Given the description of an element on the screen output the (x, y) to click on. 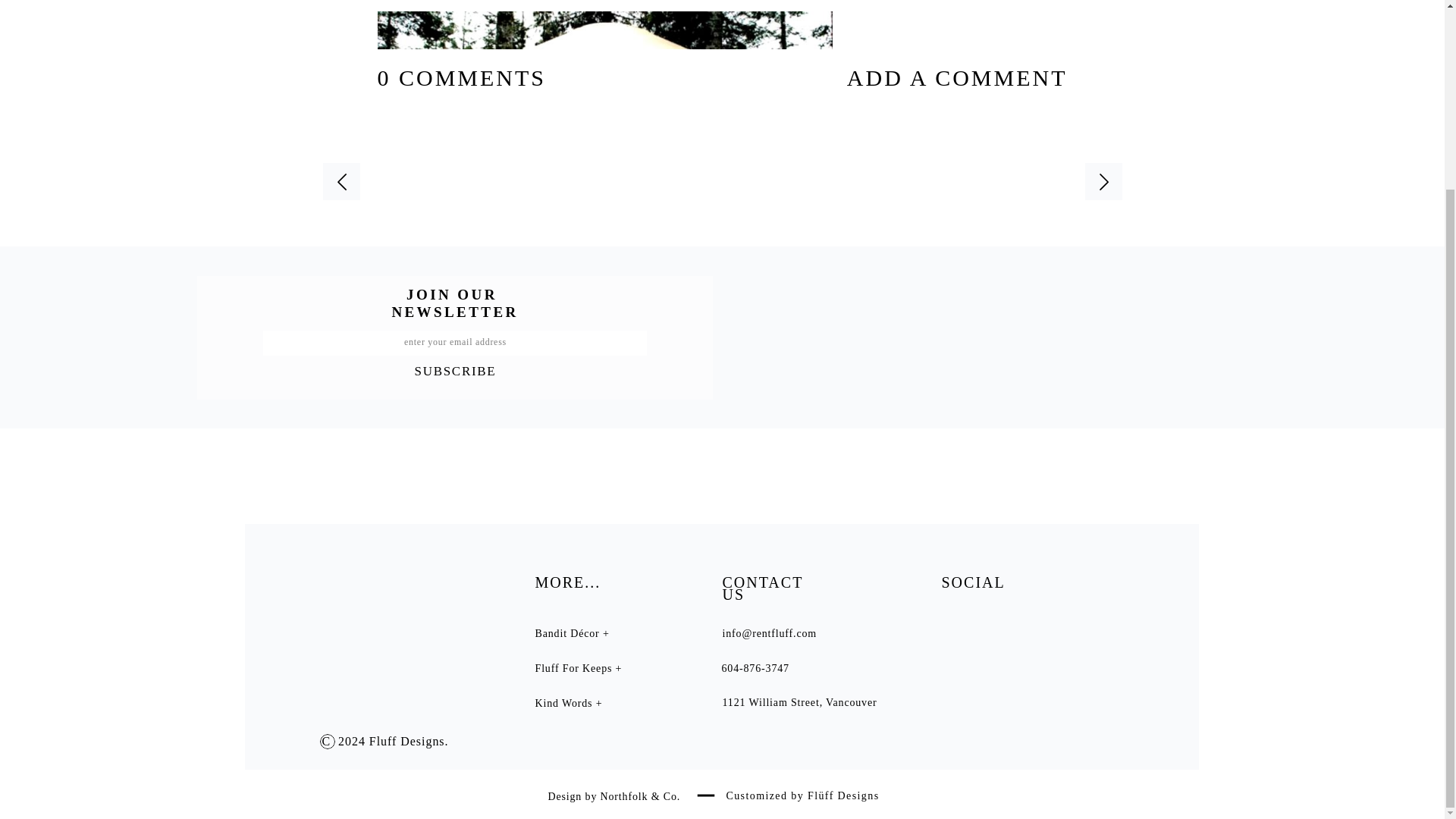
This (916, 337)
epic treehouse (604, 726)
ADD A COMMENT (920, 77)
SUBSCRIBE (454, 369)
0 COMMENTS (462, 77)
Glamping Hub (644, 337)
